Given the description of an element on the screen output the (x, y) to click on. 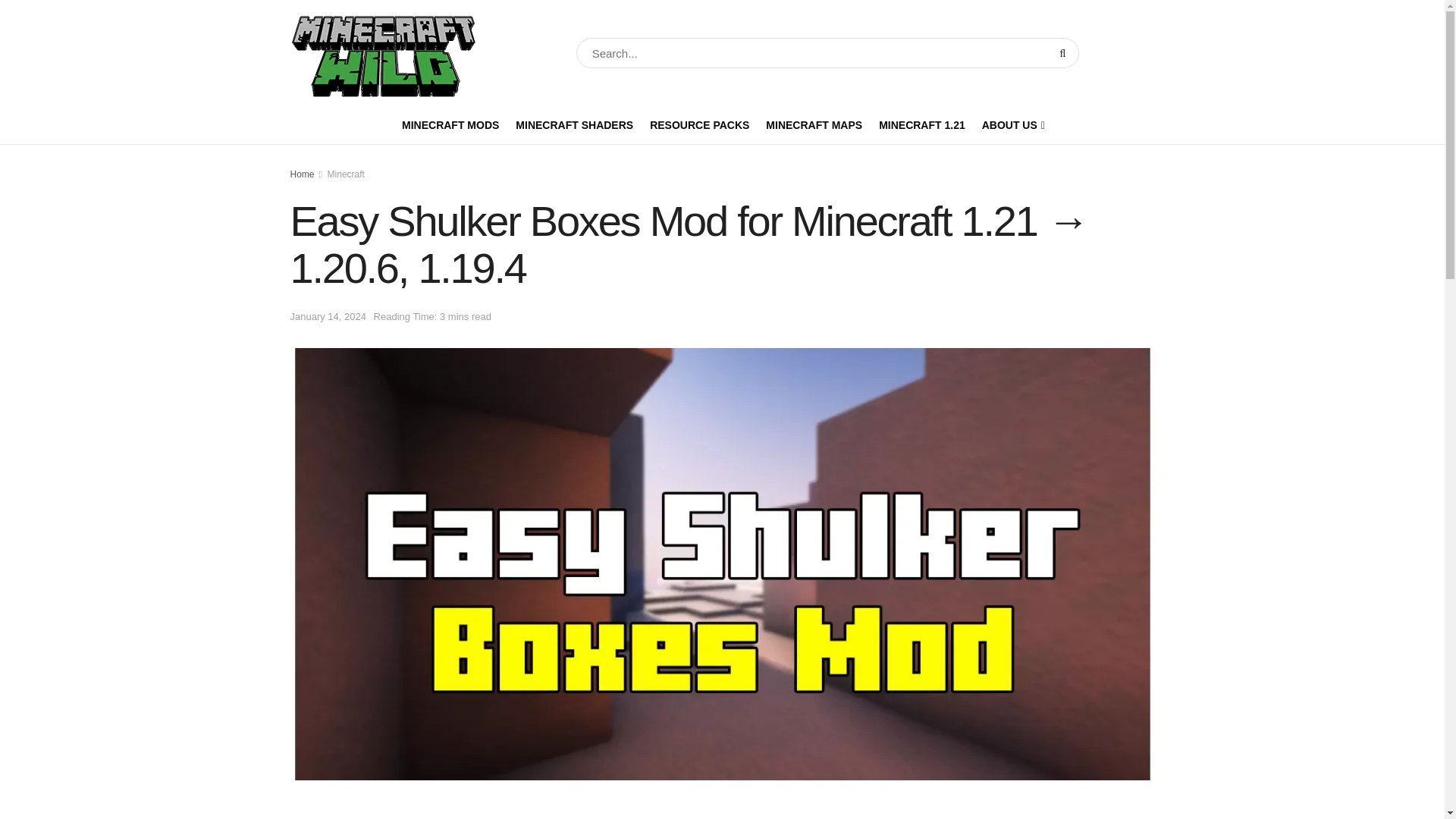
MINECRAFT MAPS (813, 125)
Minecraft (346, 173)
Home (301, 173)
ABOUT US (1011, 125)
MINECRAFT SHADERS (574, 125)
RESOURCE PACKS (699, 125)
MINECRAFT 1.21 (922, 125)
January 14, 2024 (327, 316)
MINECRAFT MODS (450, 125)
